Given the description of an element on the screen output the (x, y) to click on. 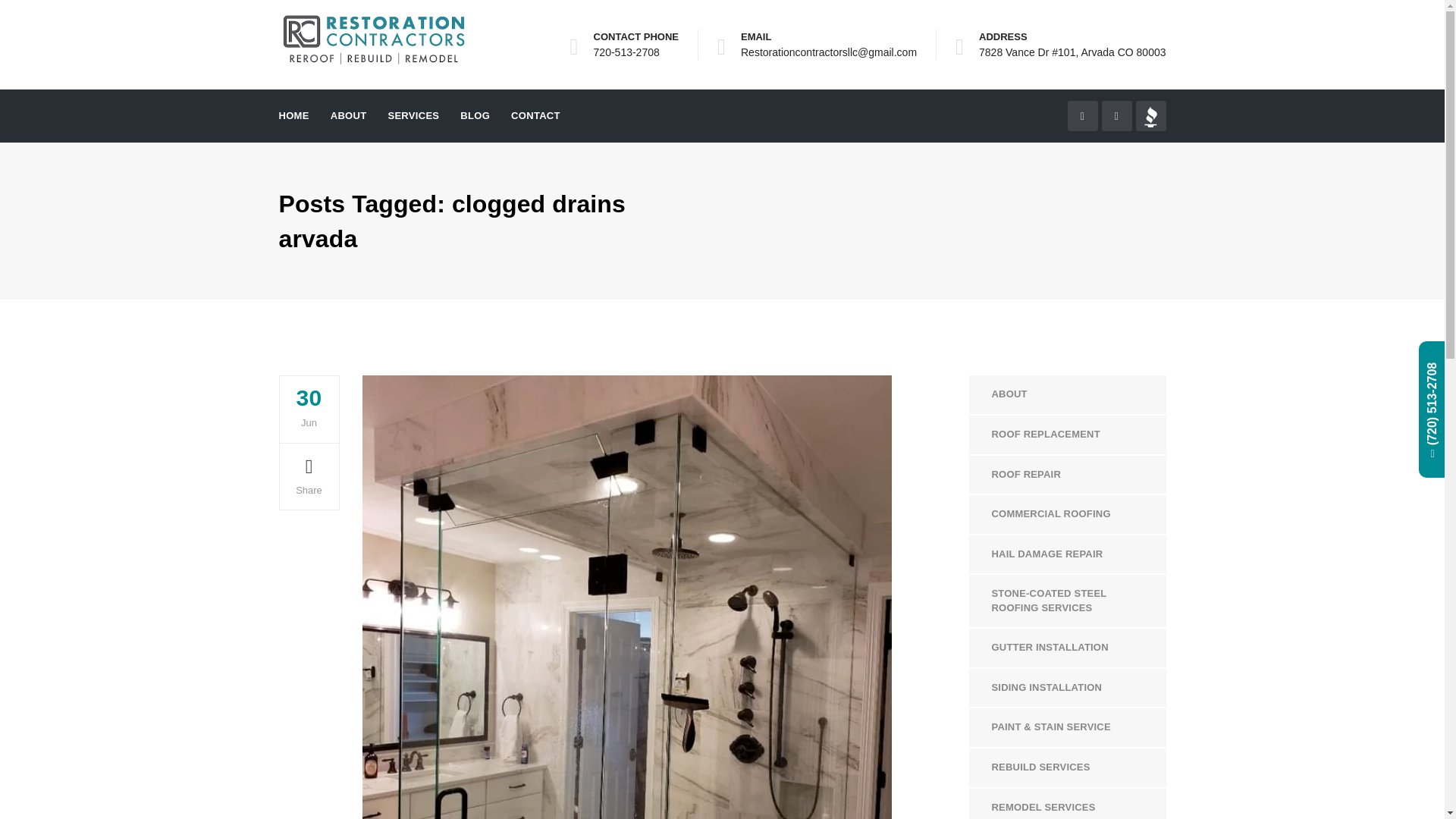
COMMERCIAL ROOFING (1067, 514)
ABOUT (1067, 394)
STONE-COATED STEEL ROOFING SERVICES (1067, 600)
720-513-2708 (626, 51)
ROOF REPLACEMENT (1067, 434)
HAIL DAMAGE REPAIR (1067, 554)
SERVICES (413, 115)
CONTACT (535, 115)
ROOF REPAIR (1067, 474)
